Given the description of an element on the screen output the (x, y) to click on. 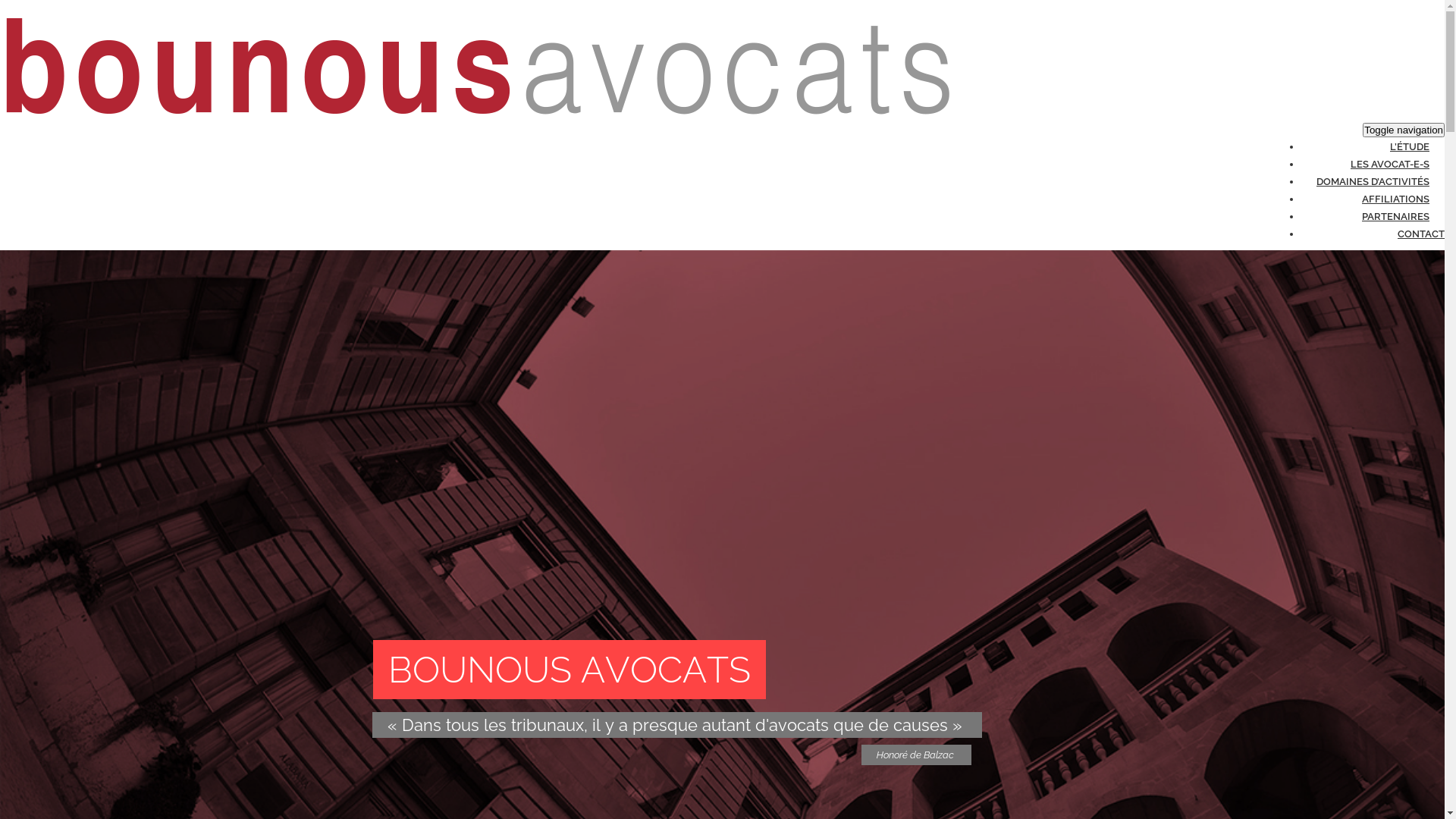
PARTENAIRES Element type: text (1349, 75)
Toggle navigation Element type: text (1403, 129)
PARTENAIRES Element type: text (1395, 213)
CONTACT Element type: text (1420, 230)
LES AVOCAT-E-S Element type: text (1389, 161)
CONTACT Element type: text (1339, 92)
AFFILIATIONS Element type: text (1395, 196)
LES AVOCAT-E-S Element type: text (1355, 23)
AFFILIATIONS Element type: text (1349, 58)
